Given the description of an element on the screen output the (x, y) to click on. 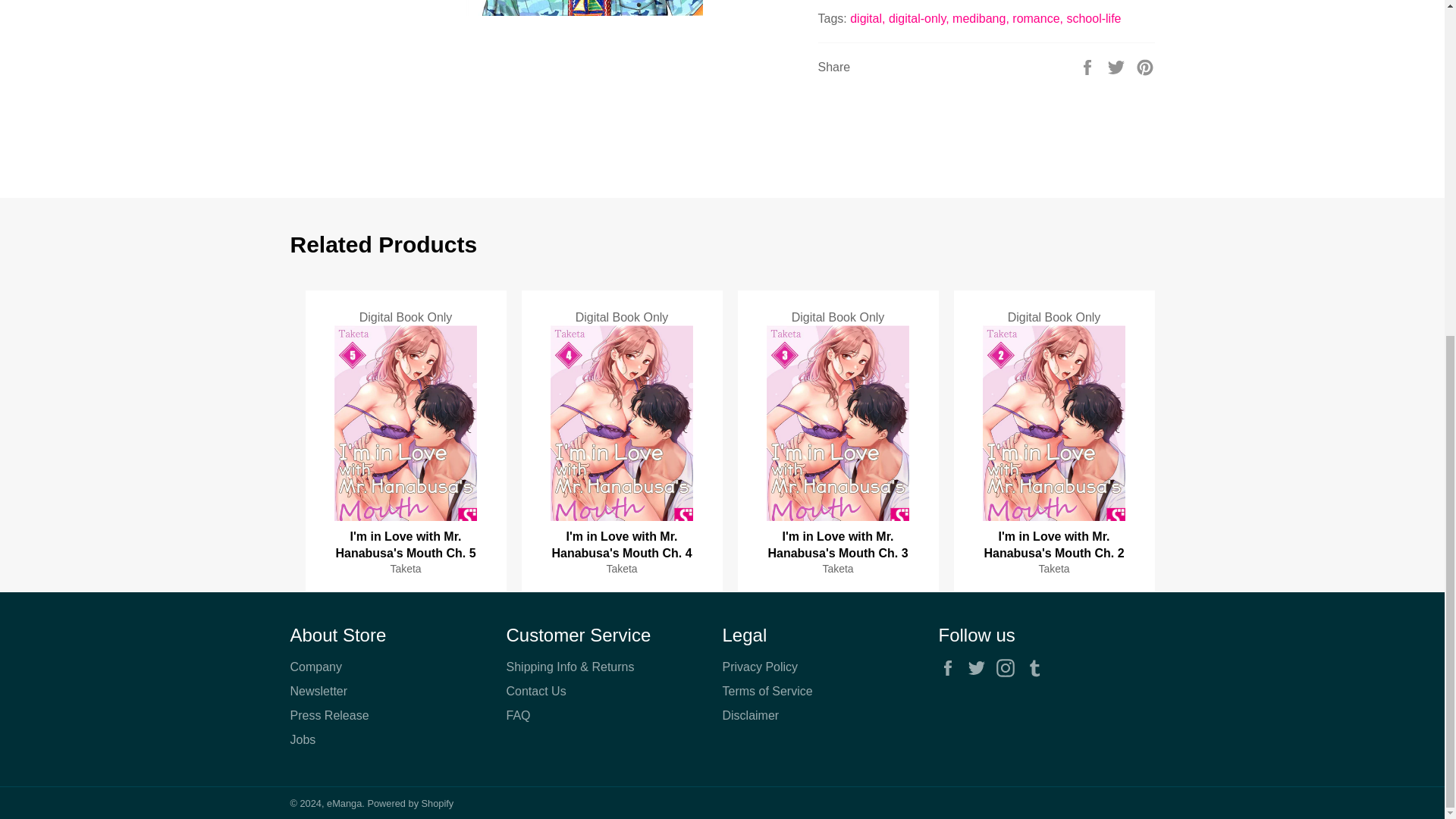
Tweet on Twitter (1117, 65)
eManga on Instagram (1008, 668)
Share on Facebook (1088, 65)
Pin on Pinterest (1144, 65)
eManga on Tumblr (1038, 668)
eManga on Twitter (980, 668)
eManga on Facebook (951, 668)
